Given the description of an element on the screen output the (x, y) to click on. 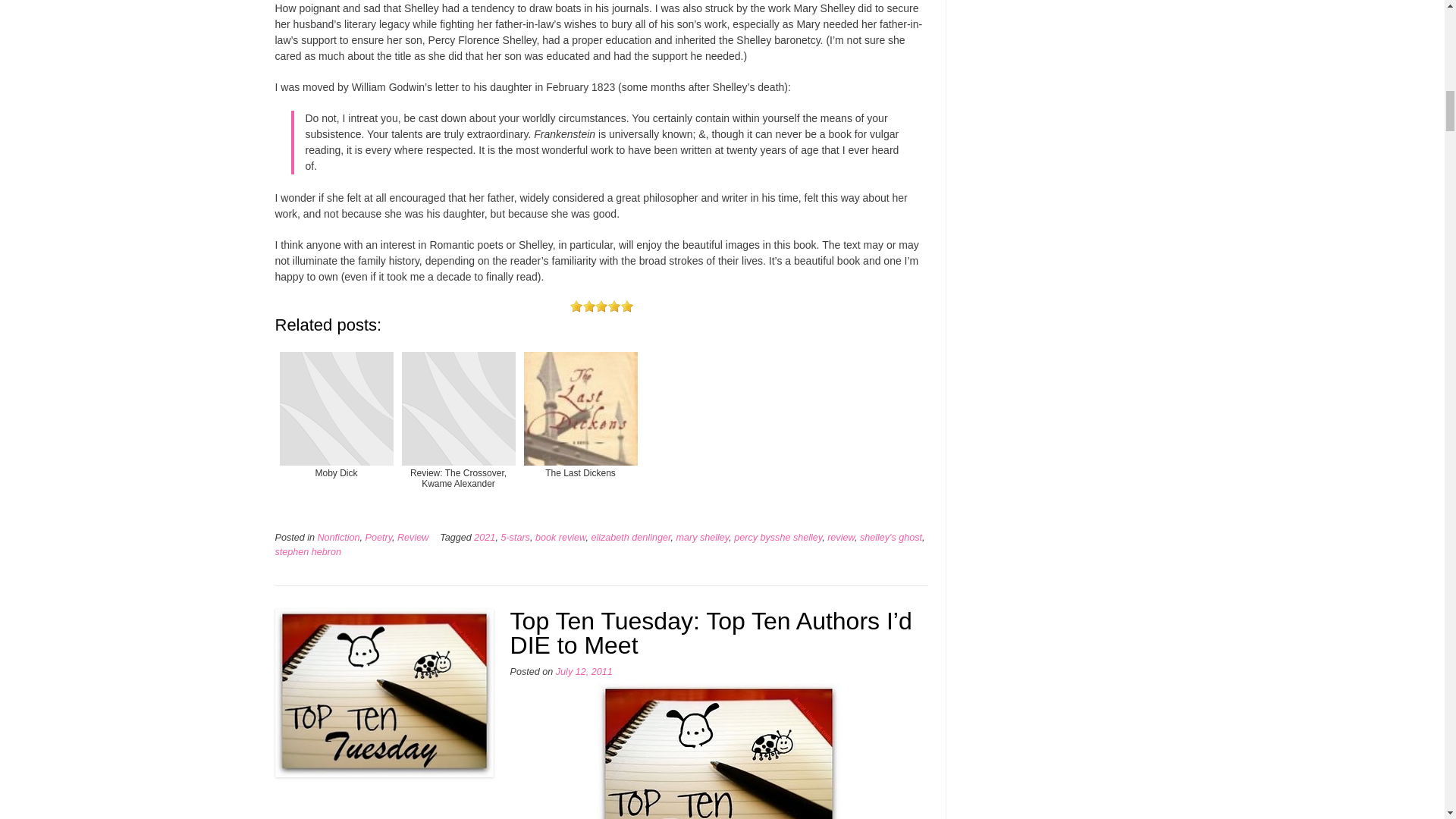
review (840, 537)
percy bysshe shelley (777, 537)
Top Ten Tuesday (718, 751)
5-stars (514, 537)
shelley's ghost (890, 537)
elizabeth denlinger (630, 537)
Poetry (378, 537)
mary shelley (702, 537)
Review (412, 537)
book review (560, 537)
